Given the description of an element on the screen output the (x, y) to click on. 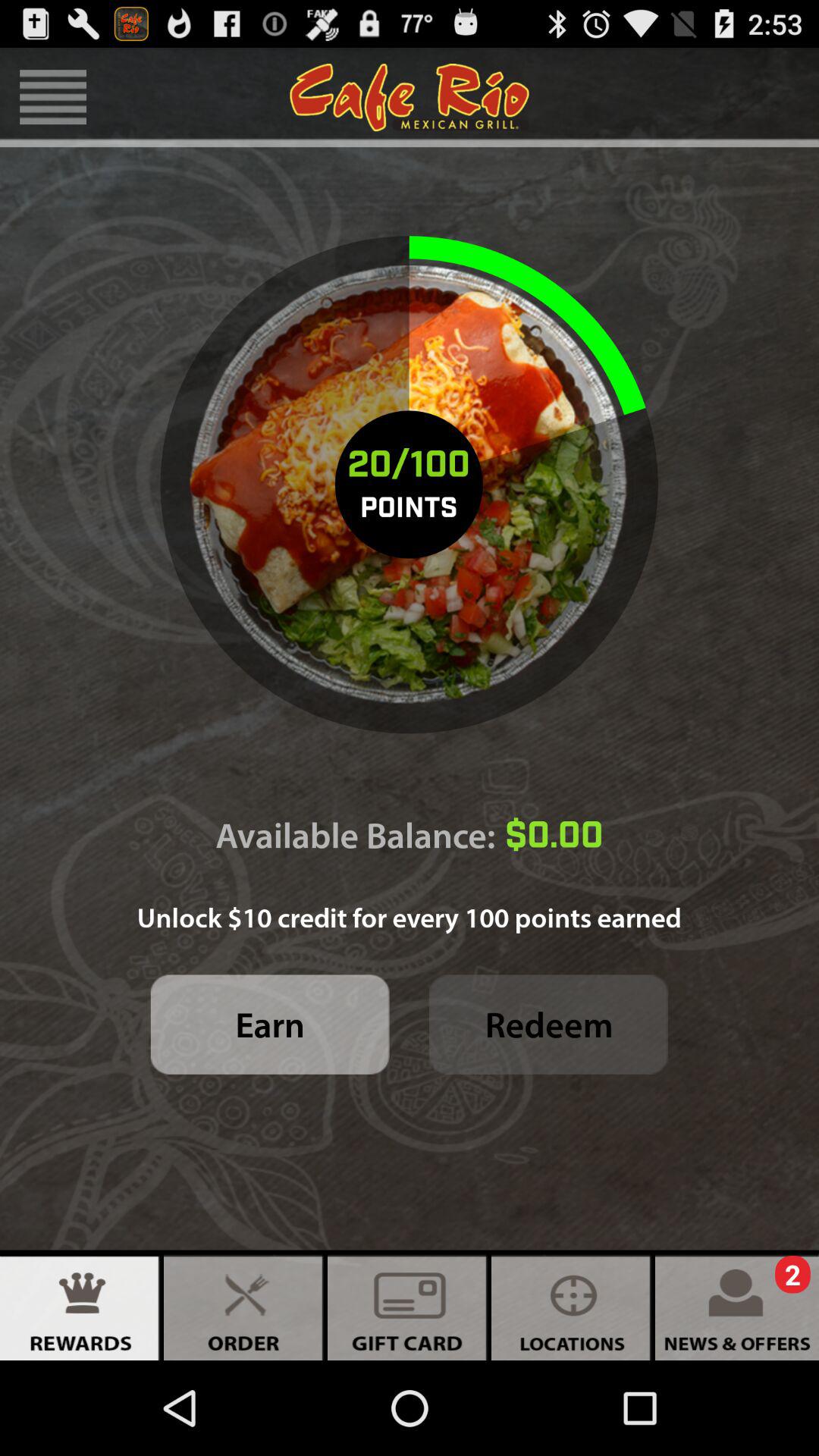
jump to the earn item (269, 1024)
